Given the description of an element on the screen output the (x, y) to click on. 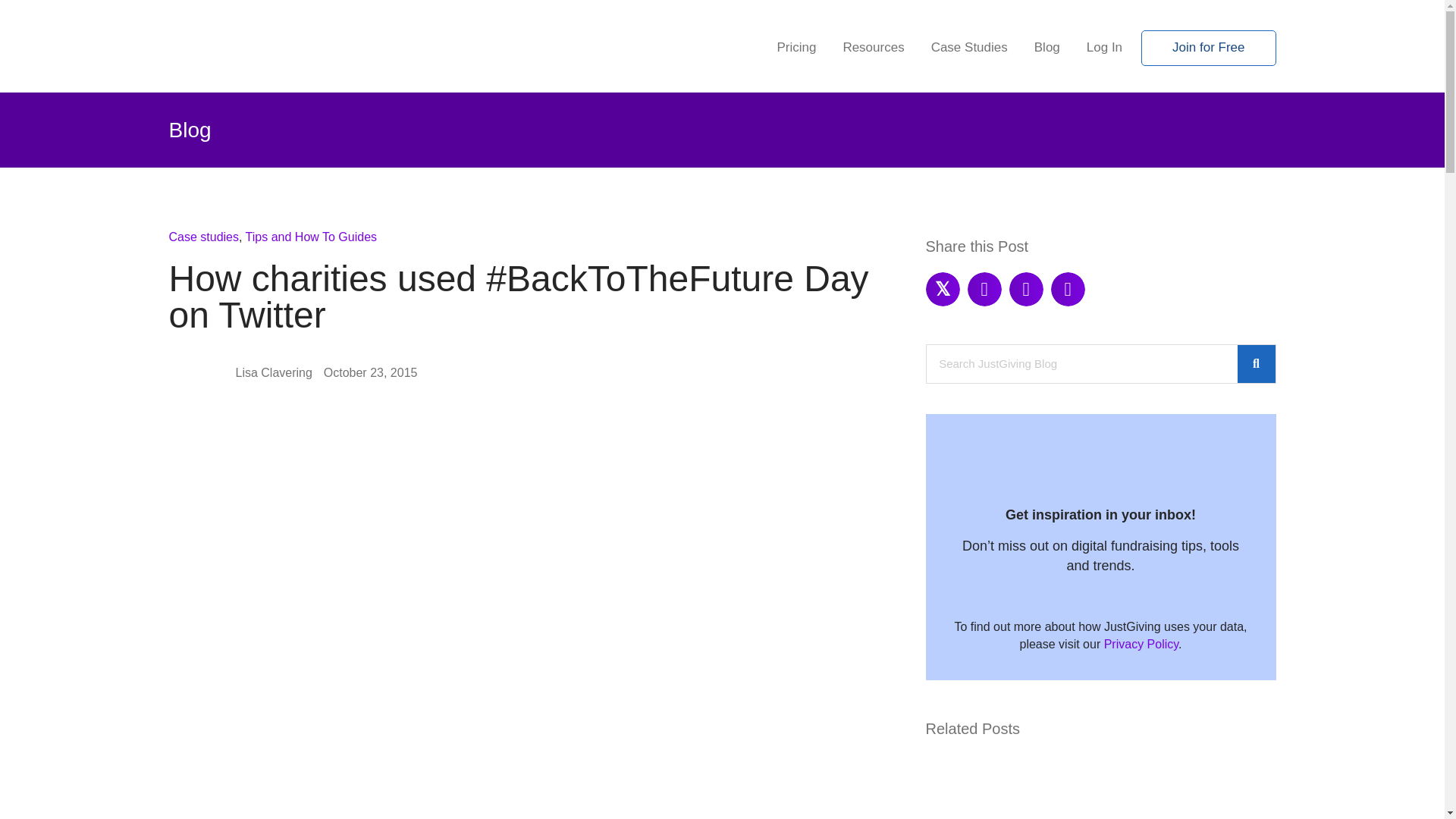
Search (1081, 363)
Resources (872, 48)
Join for Free (1208, 48)
Tips and How To Guides (311, 236)
Log In (1103, 48)
Blog (1046, 48)
Case Studies (968, 48)
Case studies (203, 236)
Lisa Clavering (272, 372)
